Given the description of an element on the screen output the (x, y) to click on. 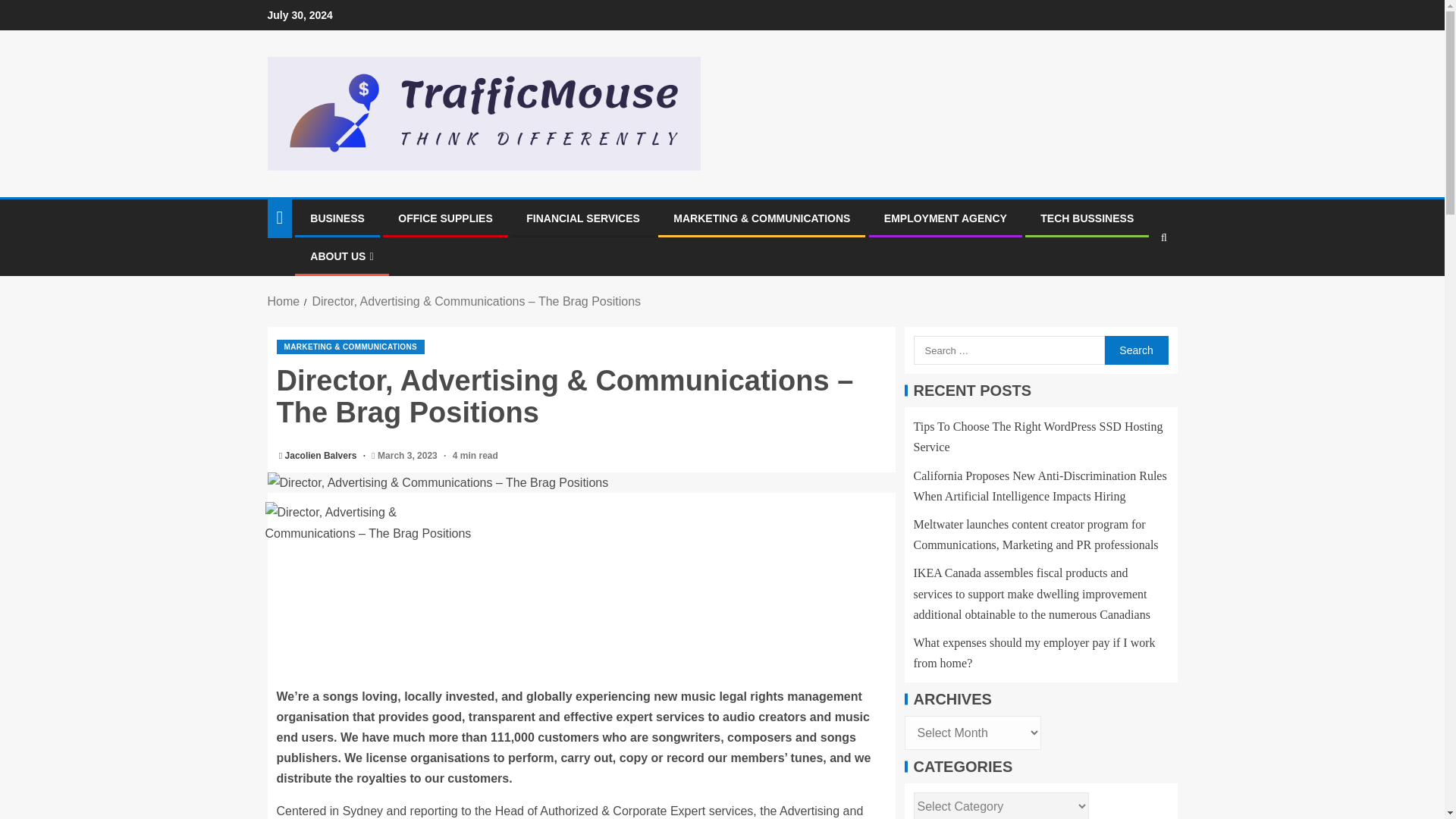
Jacolien Balvers (322, 455)
Search (1135, 349)
FINANCIAL SERVICES (582, 218)
Search (1135, 349)
EMPLOYMENT AGENCY (945, 218)
BUSINESS (337, 218)
TECH BUSSINESS (1087, 218)
Home (282, 300)
Search (1133, 284)
ABOUT US (341, 256)
OFFICE SUPPLIES (444, 218)
